Given the description of an element on the screen output the (x, y) to click on. 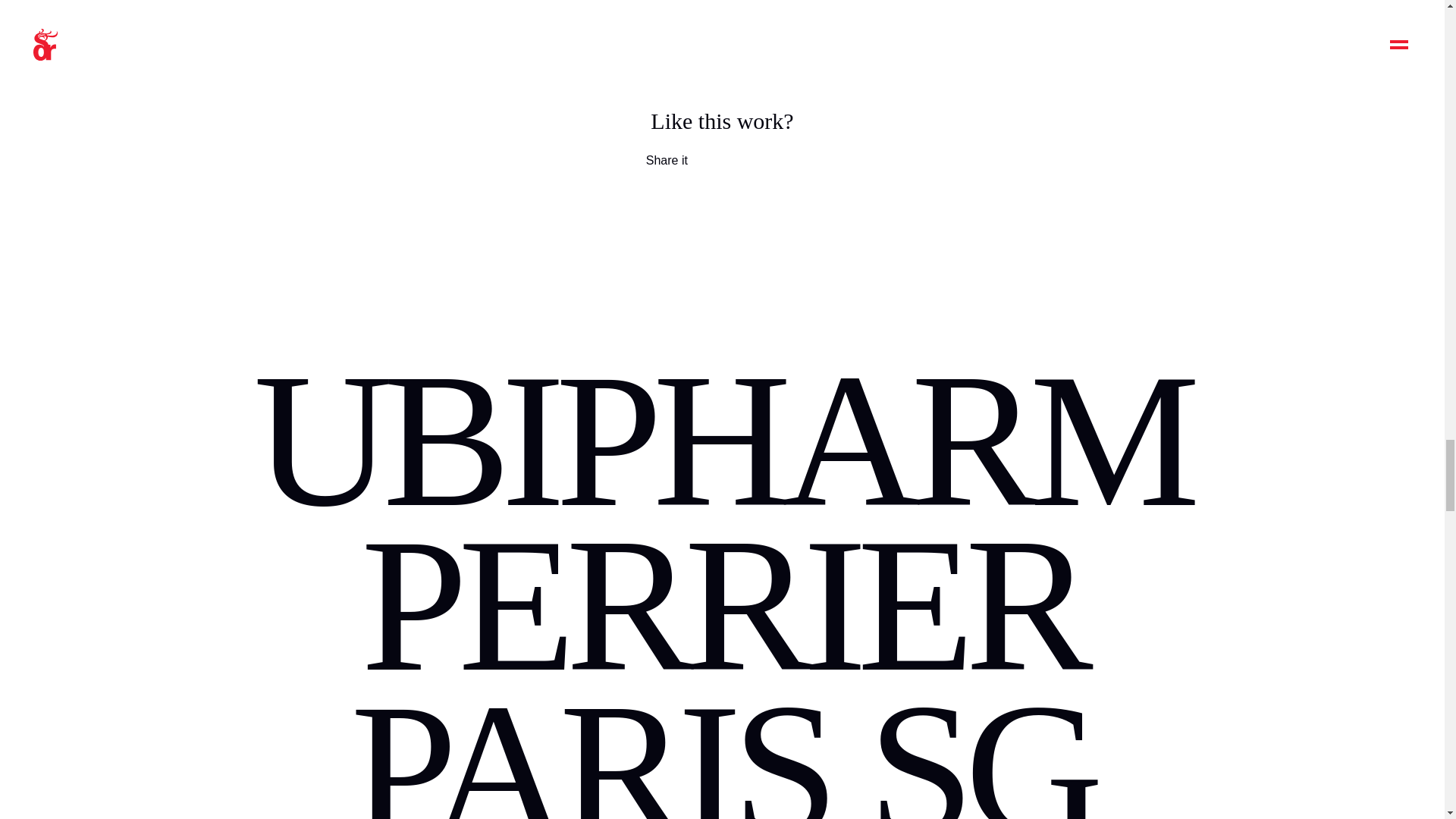
PARIS SG (722, 741)
